Given the description of an element on the screen output the (x, y) to click on. 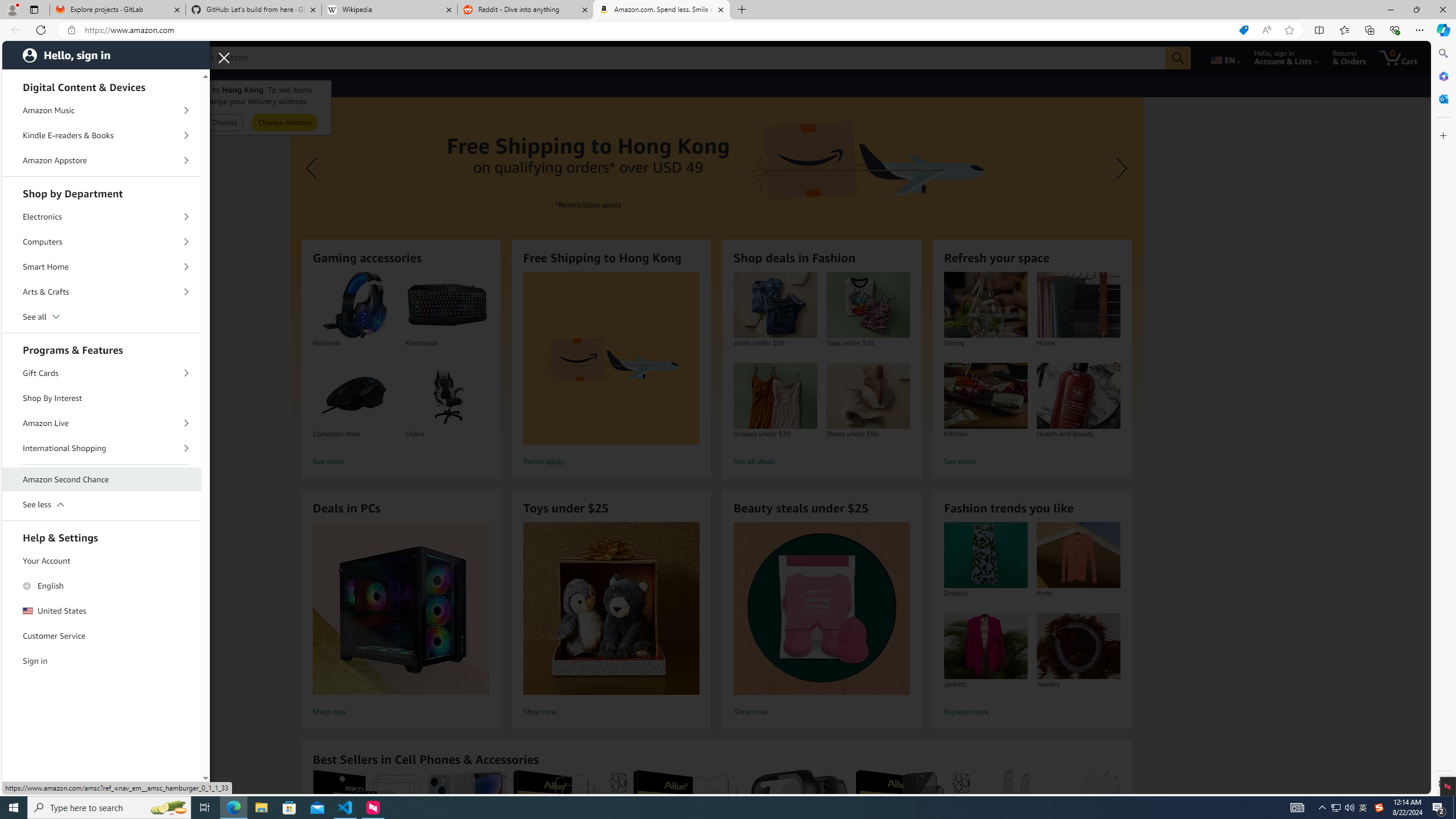
International Shopping (101, 448)
Amazon Music (101, 110)
Smart Home (101, 267)
Shop by Department (101, 191)
Customer Service (101, 635)
